Given the description of an element on the screen output the (x, y) to click on. 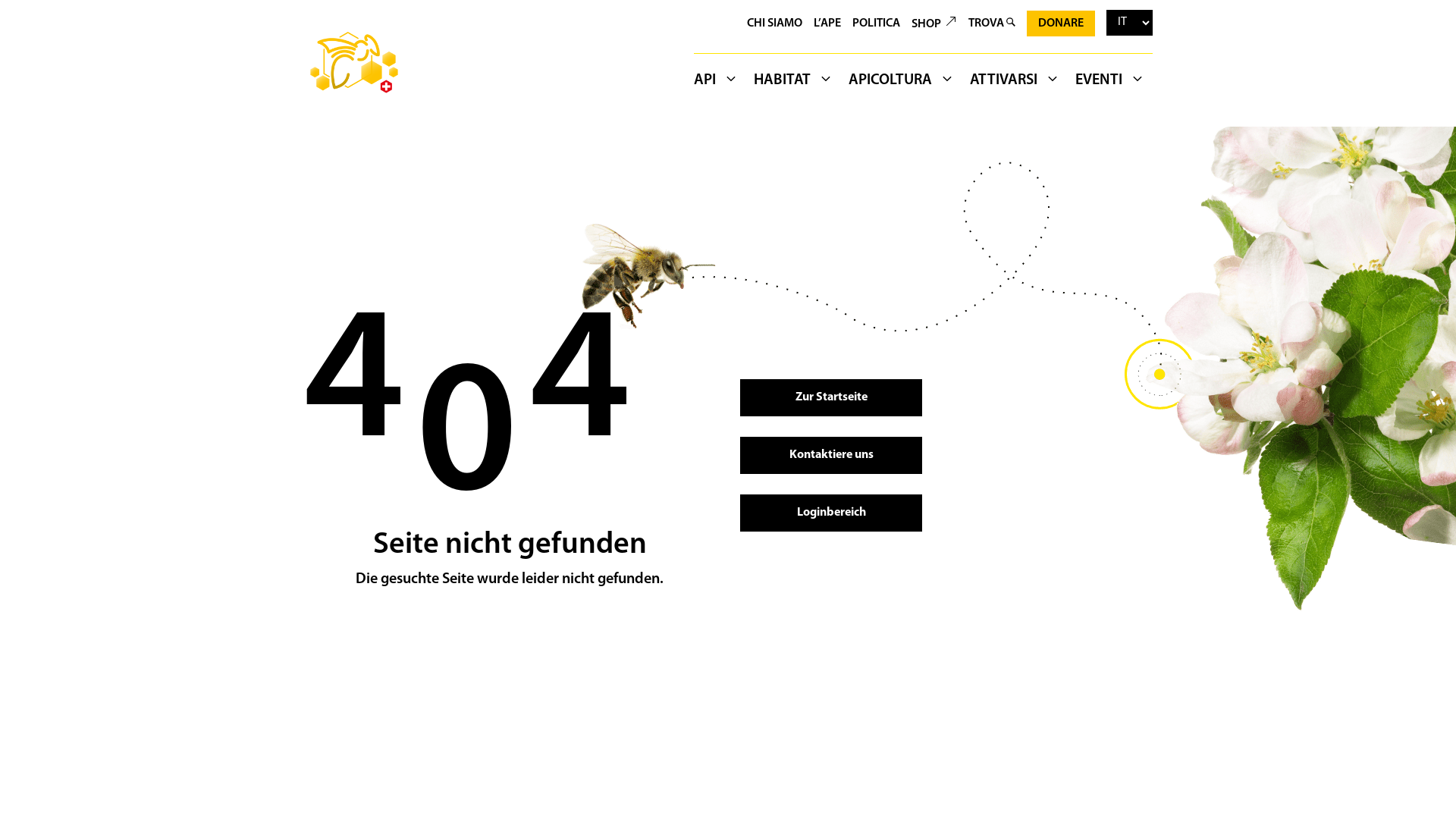
APICOLTURA Element type: text (901, 83)
Kontaktiere uns Element type: text (831, 454)
HABITAT Element type: text (793, 83)
POLITICA Element type: text (875, 23)
ATTIVARSI Element type: text (1014, 83)
SHOP Element type: text (933, 23)
TROVA Element type: text (992, 23)
Loginbereich Element type: text (831, 512)
API Element type: text (719, 83)
EVENTI Element type: text (1109, 83)
CHI SIAMO Element type: text (774, 23)
DONARE Element type: text (1060, 23)
Zur Startseite Element type: text (831, 397)
